Given the description of an element on the screen output the (x, y) to click on. 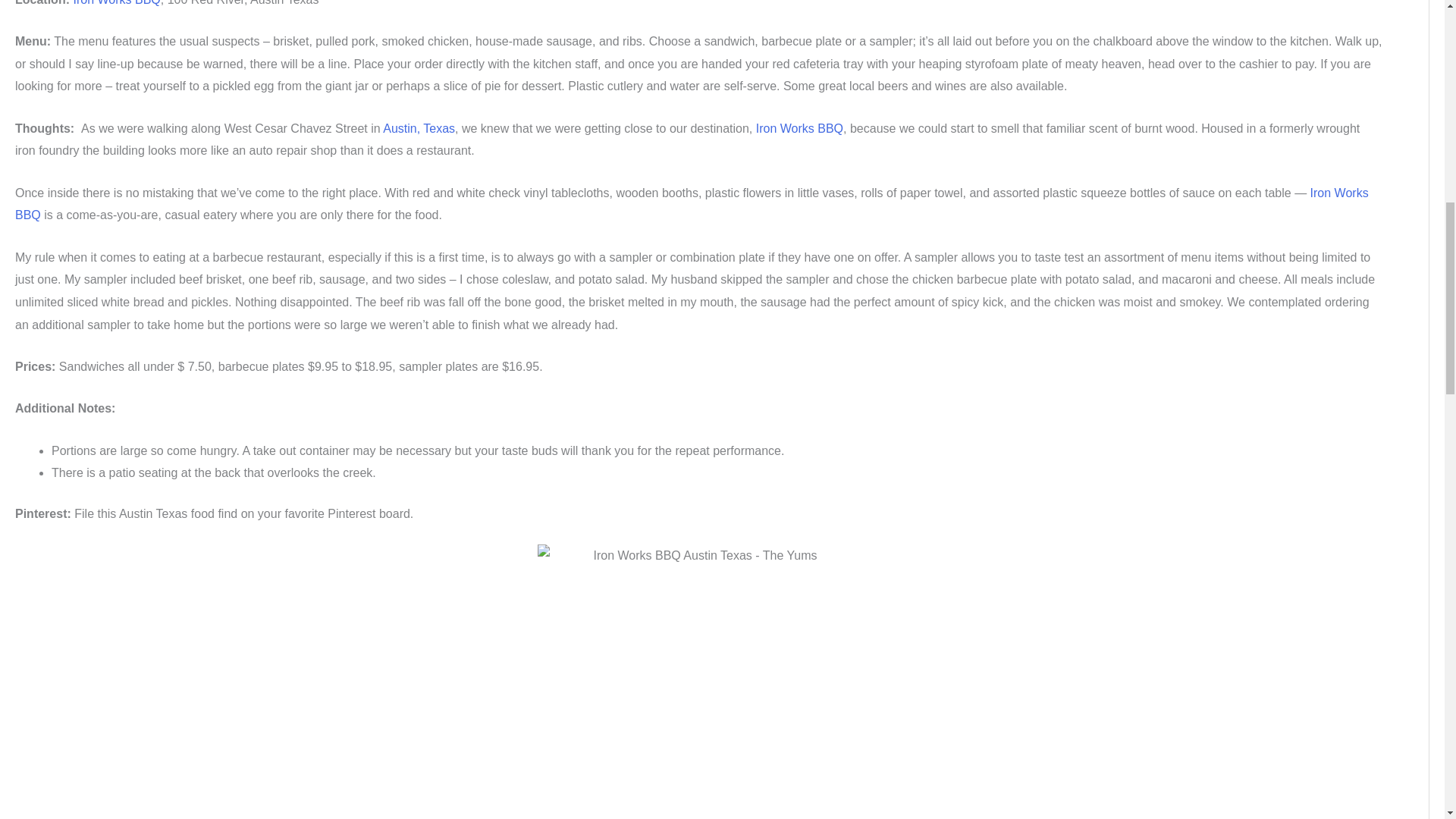
Austin, Texas (418, 128)
Iron Works BBQ (116, 2)
Iron Works BBQ (691, 203)
Iron Works BBQ (799, 128)
